Given the description of an element on the screen output the (x, y) to click on. 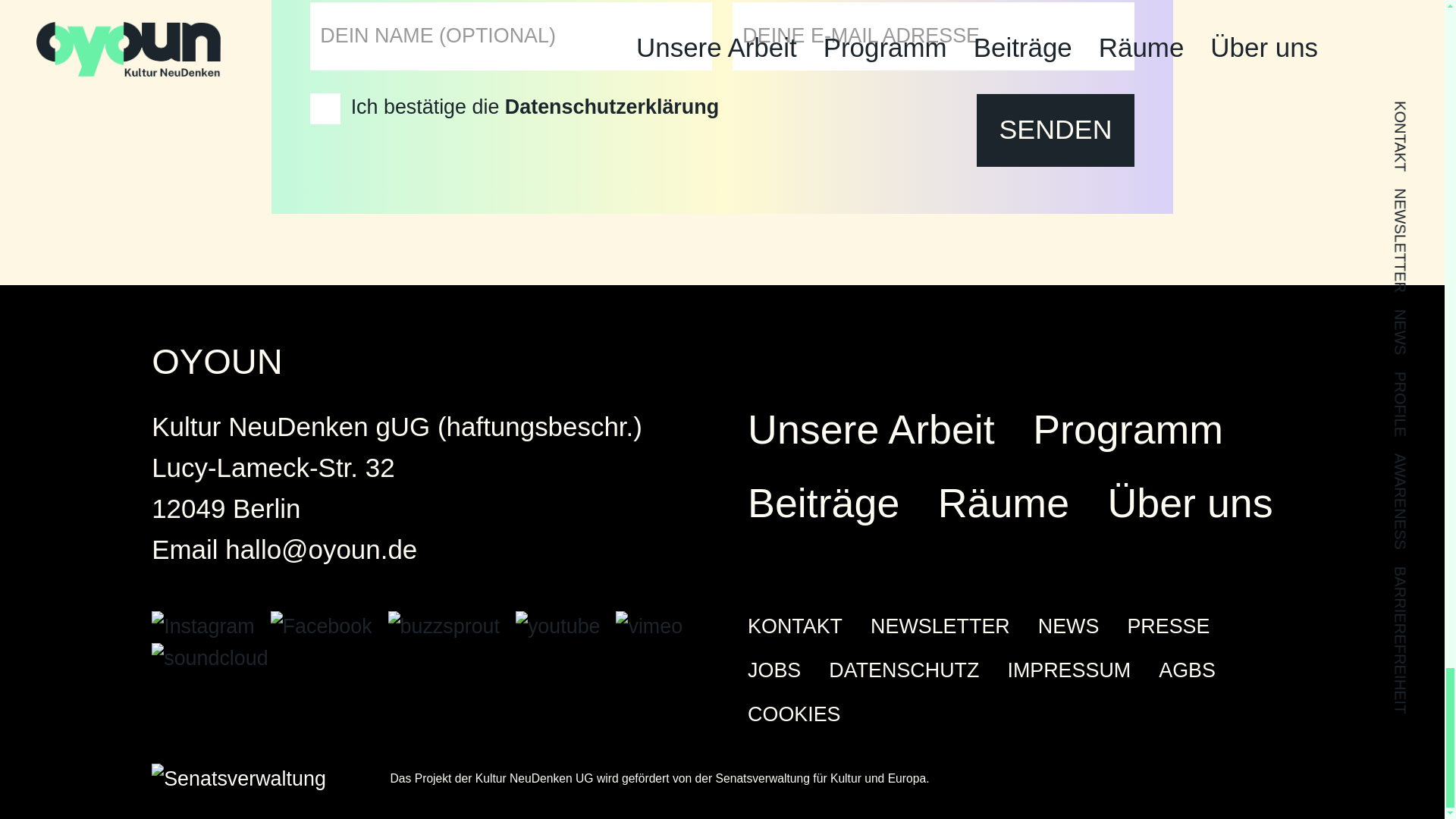
soundcloud (214, 658)
vimeo (654, 626)
Instagram (210, 626)
SENDEN (1055, 130)
buzzsprout (451, 626)
youtube (565, 626)
Facebook (329, 626)
